Given the description of an element on the screen output the (x, y) to click on. 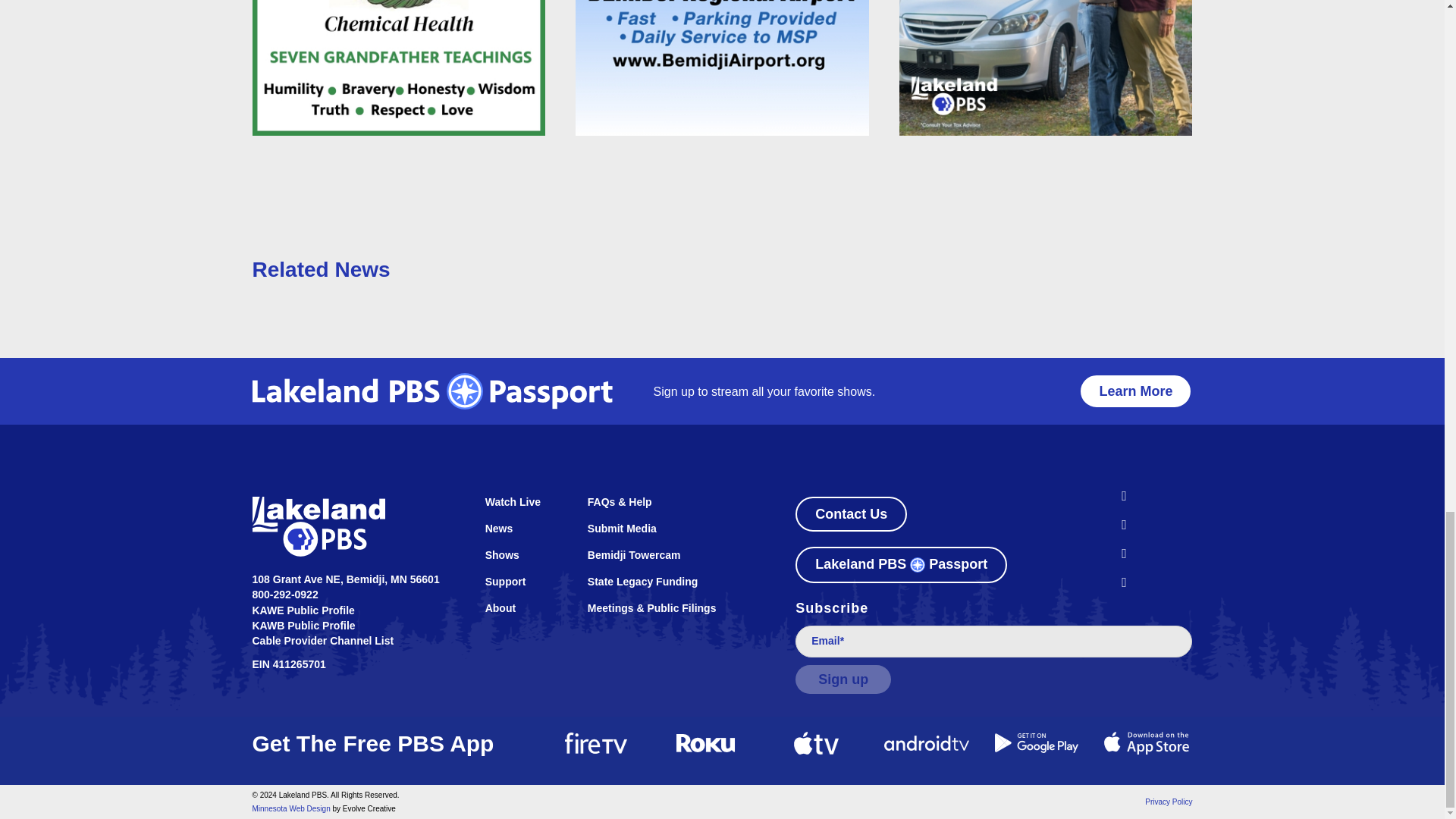
Learn More (1135, 390)
News (520, 535)
Sign up (842, 679)
KAWB Public Profile (303, 625)
Watch Live (520, 509)
800-292-0922 (284, 594)
Cable Provider Channel List (322, 640)
Cable Provider Channel List (322, 640)
Call Us Today (284, 594)
KAWE Public Profile (302, 610)
